Given the description of an element on the screen output the (x, y) to click on. 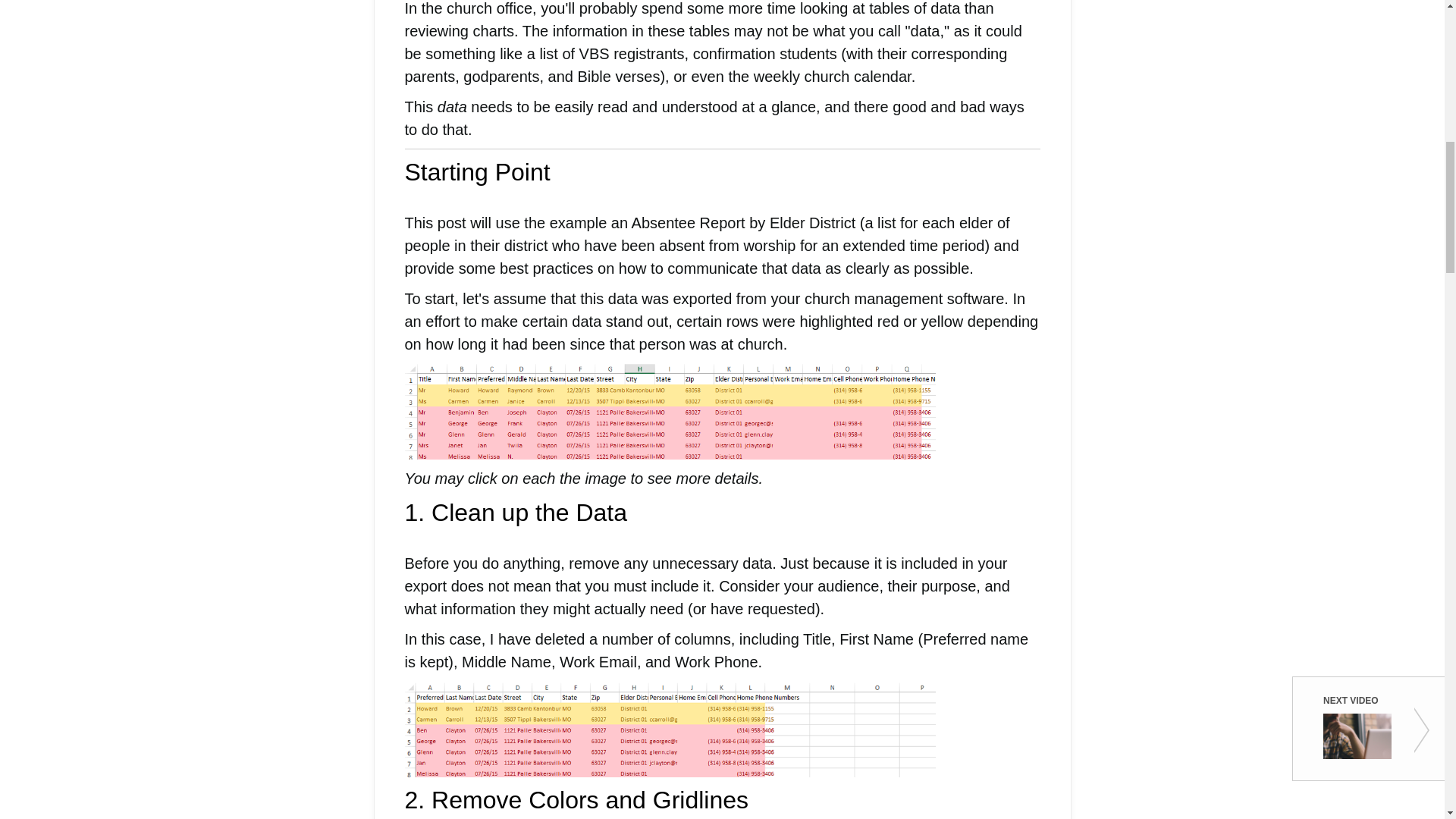
01.source-thumb.png (670, 411)
